Given the description of an element on the screen output the (x, y) to click on. 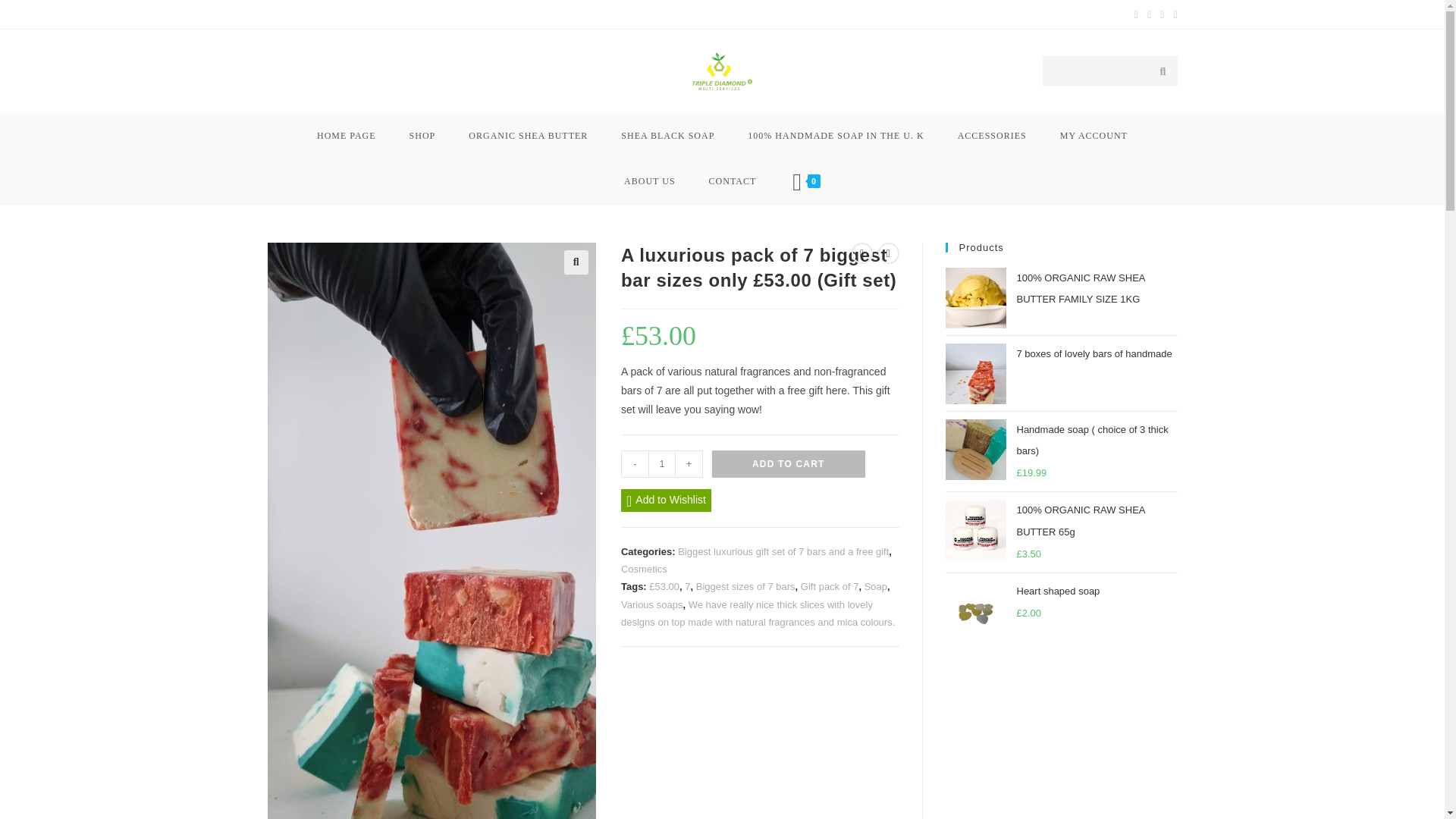
CONTACT (733, 180)
1 (661, 463)
SHOP (422, 135)
SHEA BLACK SOAP (667, 135)
Wishlist (438, 13)
MY ACCOUNT (1093, 135)
Orders (399, 13)
ACCESSORIES (991, 135)
0 (806, 180)
ABOUT US (649, 180)
HOME PAGE (346, 135)
ORGANIC SHEA BUTTER (527, 135)
My account (288, 13)
